Given the description of an element on the screen output the (x, y) to click on. 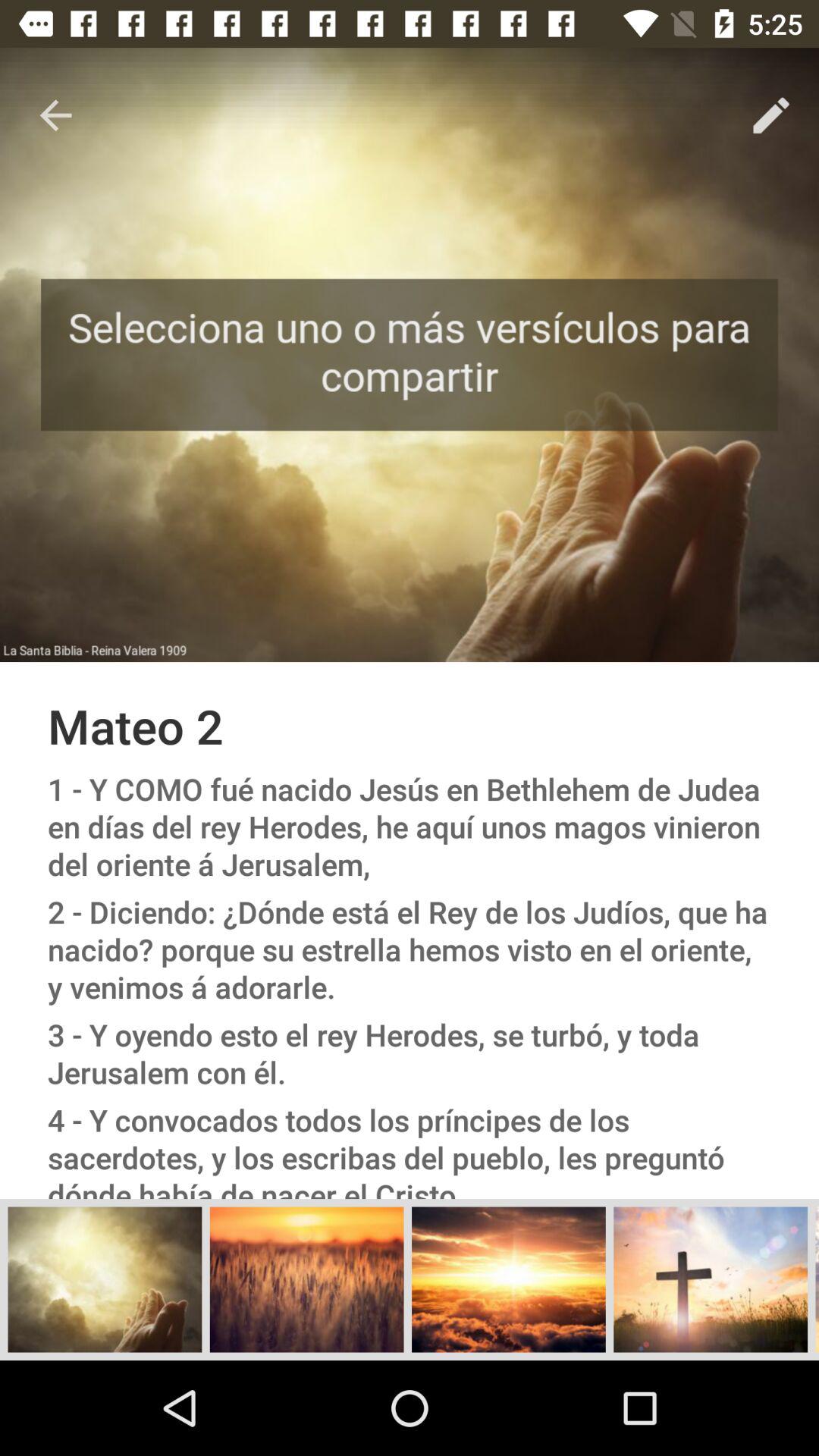
choose the 4 y convocados item (409, 1146)
